Given the description of an element on the screen output the (x, y) to click on. 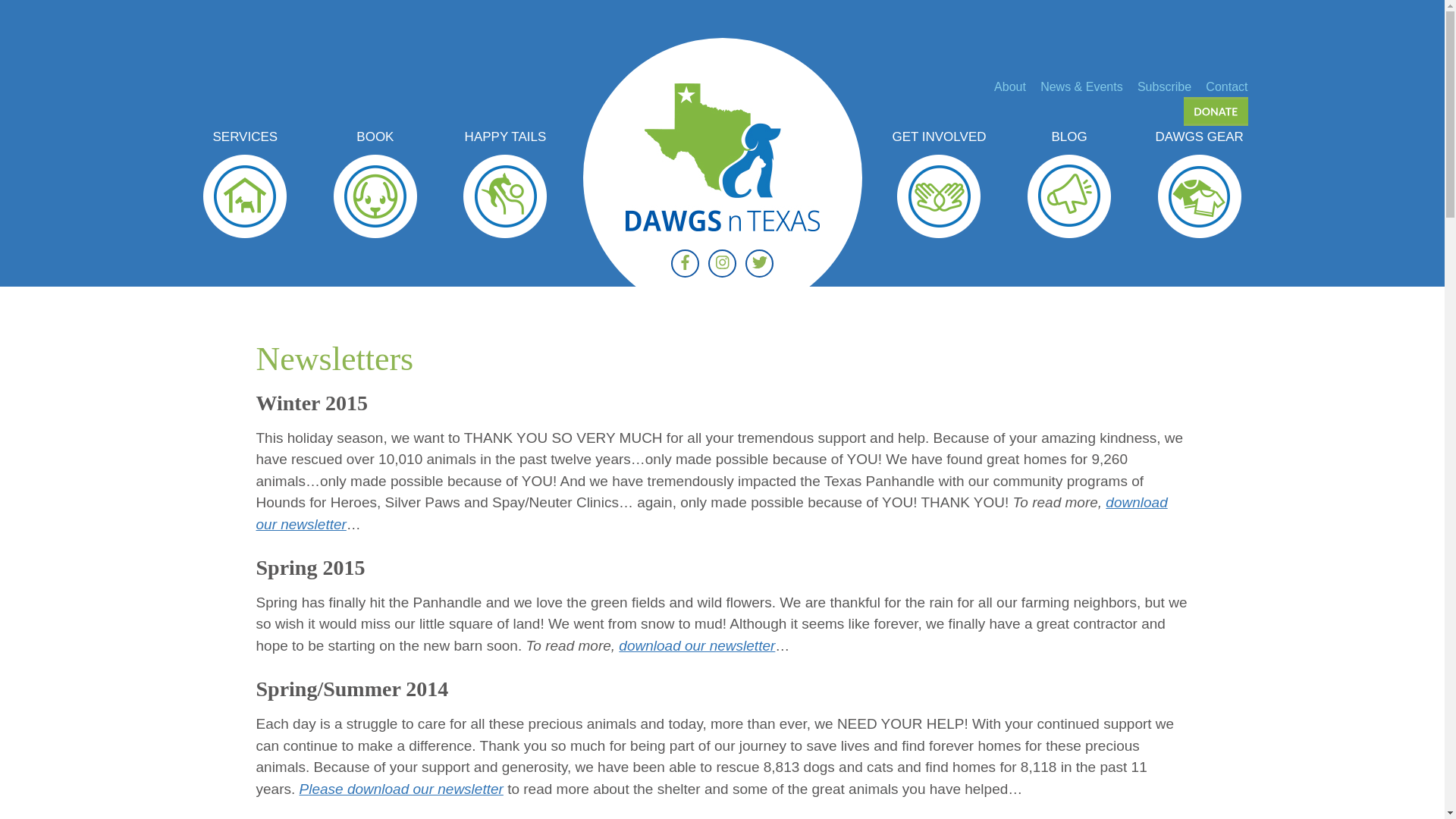
Subscribe (1164, 86)
SERVICES (244, 137)
Contact (1226, 86)
DAWGS GEAR (1199, 137)
BOOK (375, 137)
download our newsletter (711, 513)
Please download our newsletter (401, 788)
download our newsletter (696, 645)
HAPPY TAILS (505, 137)
About (1010, 86)
GET INVOLVED (938, 137)
BLOG (1068, 137)
